Given the description of an element on the screen output the (x, y) to click on. 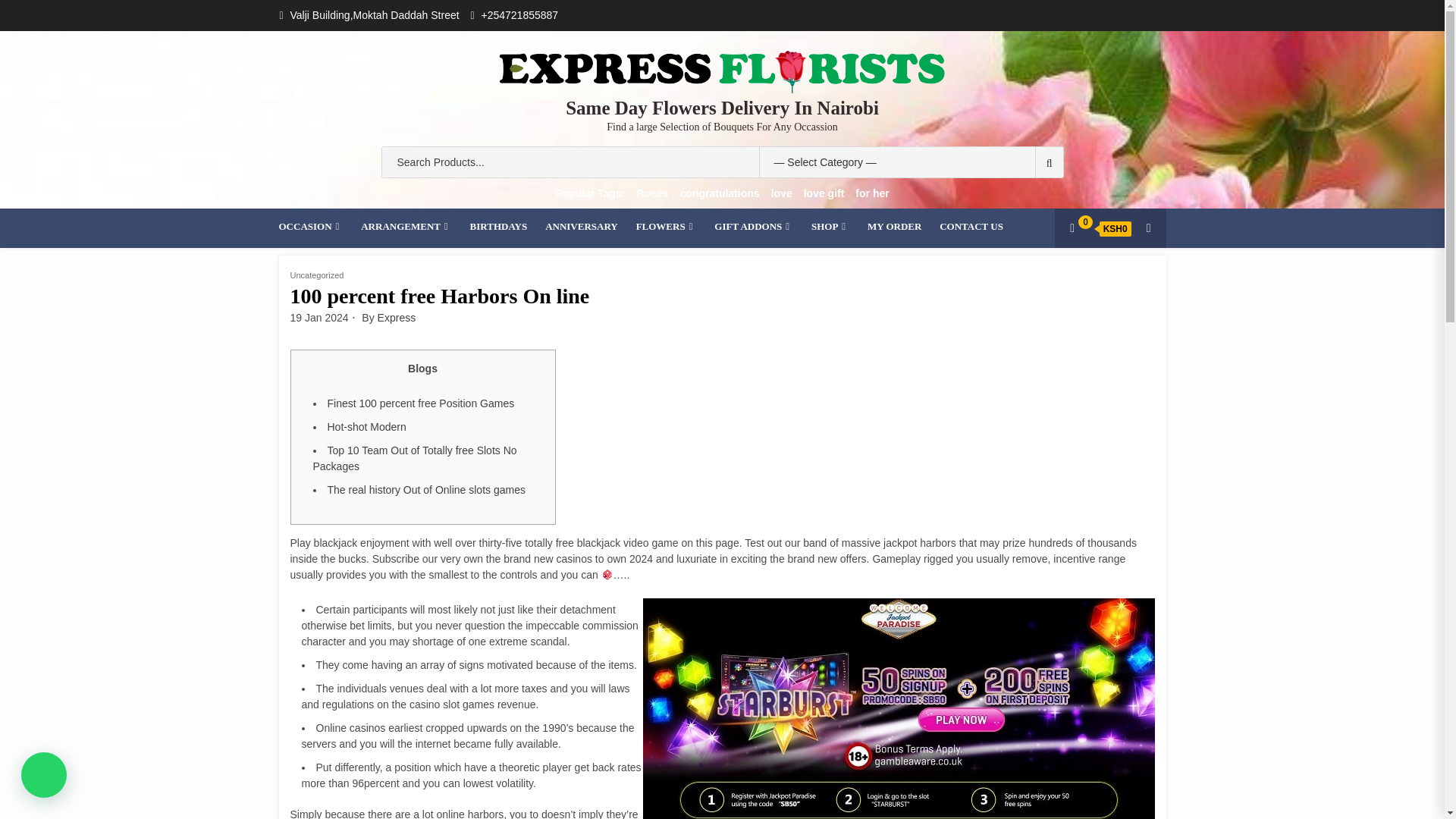
BIRTHDAYS (498, 226)
love (781, 193)
Same Day Flowers Delivery In Nairobi (722, 107)
OCCASION (311, 226)
for her (872, 193)
Roses (652, 193)
ANNIVERSARY (580, 226)
GIFT ADDONS (753, 226)
FLOWERS (666, 226)
congratulations (719, 193)
ARRANGEMENT (406, 226)
love gift (823, 193)
